Given the description of an element on the screen output the (x, y) to click on. 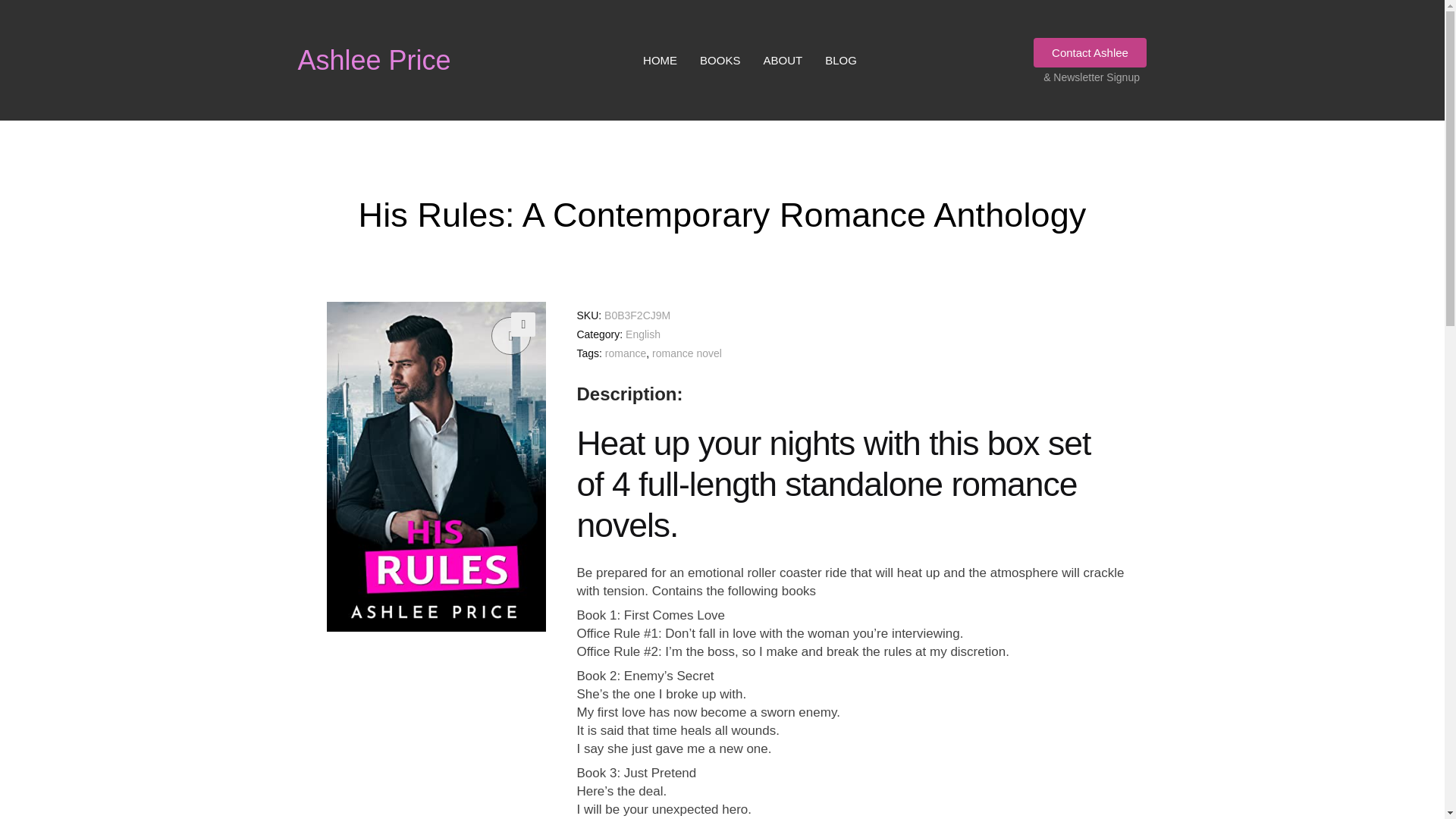
romance novel (687, 353)
English (643, 334)
ABOUT (782, 59)
Product Thumbnail (511, 335)
Contact Ashlee (1090, 52)
BLOG (840, 59)
BOOKS (719, 59)
Ashlee Price (373, 59)
HOME (659, 59)
romance (625, 353)
